Given the description of an element on the screen output the (x, y) to click on. 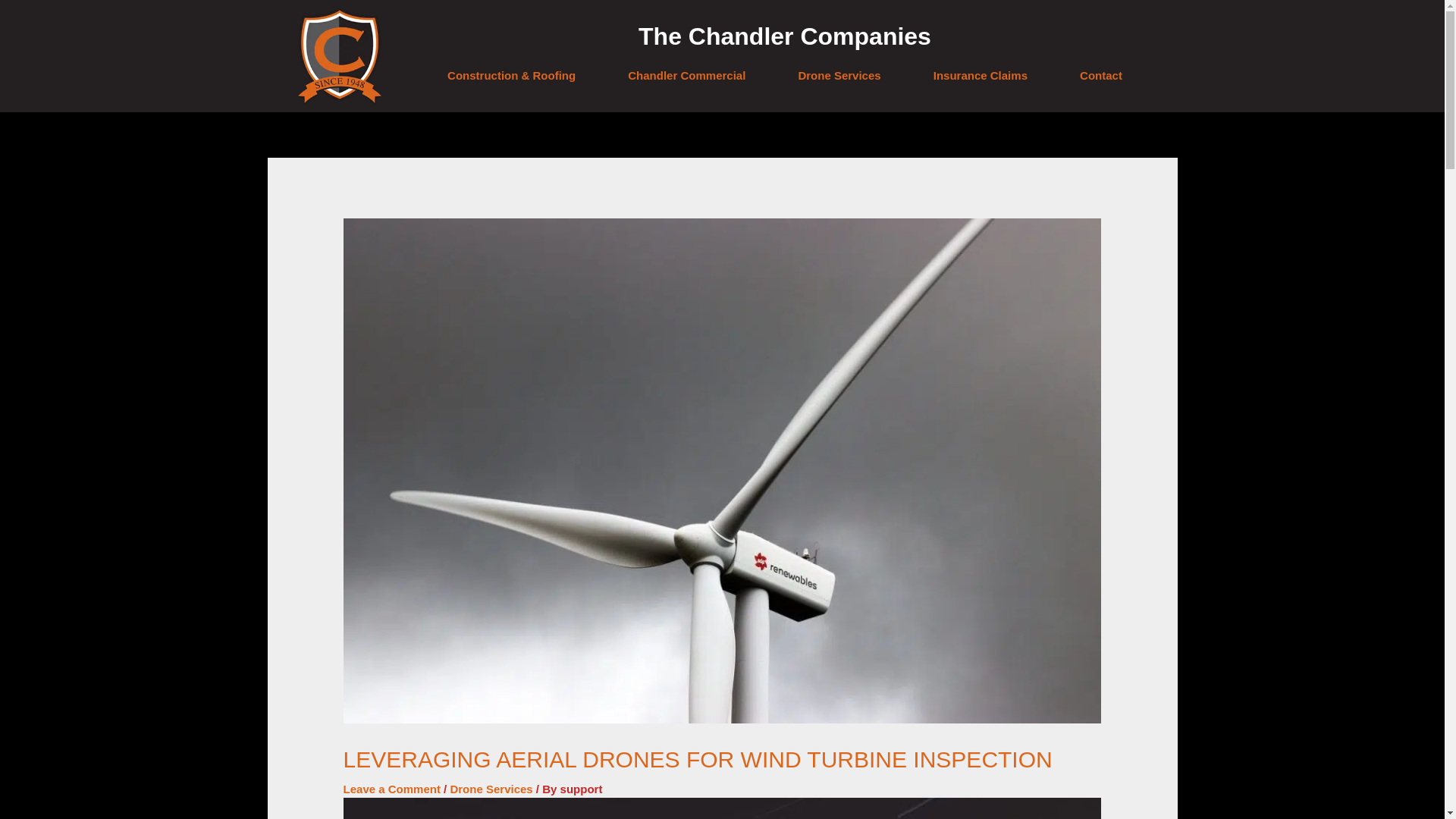
View all posts by support (581, 788)
The Chandler Companies (785, 35)
